Given the description of an element on the screen output the (x, y) to click on. 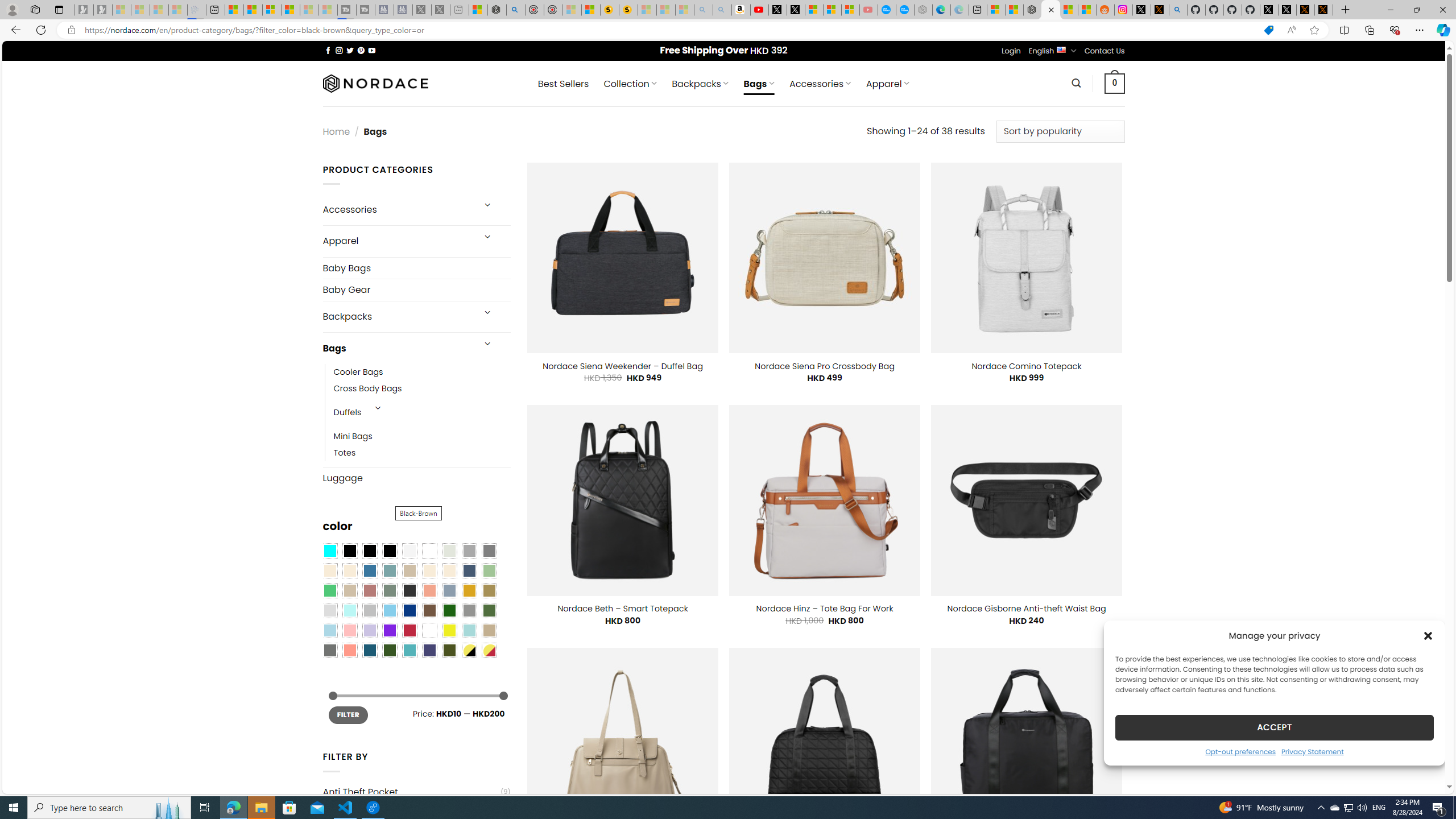
Opinion: Op-Ed and Commentary - USA TODAY (887, 9)
Light Taupe (349, 590)
Pink (349, 630)
Opt-out preferences (1240, 750)
Peach Pink (349, 649)
Backpacks (397, 316)
Search (1076, 83)
Accessories (397, 209)
This site has coupons! Shopping in Microsoft Edge (1268, 29)
github - Search (1178, 9)
